Given the description of an element on the screen output the (x, y) to click on. 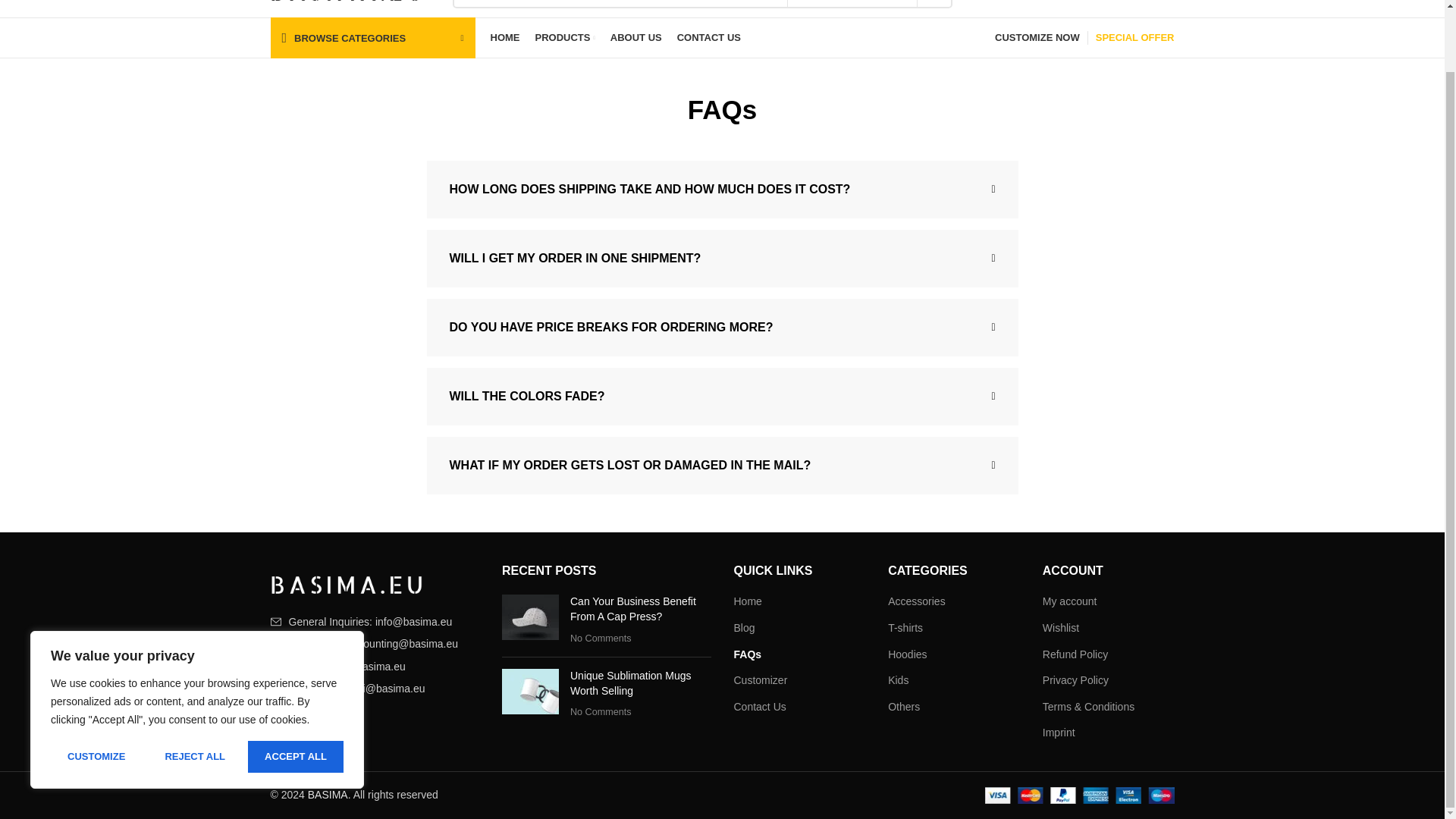
Compare products (1110, 2)
My account (1023, 2)
SELECT CATEGORY (852, 3)
My Wishlist (1085, 2)
Shopping cart (1153, 2)
SELECT CATEGORY (852, 3)
CUSTOMIZE (95, 689)
REJECT ALL (194, 689)
ACCEPT ALL (295, 689)
Search for products (701, 4)
